Given the description of an element on the screen output the (x, y) to click on. 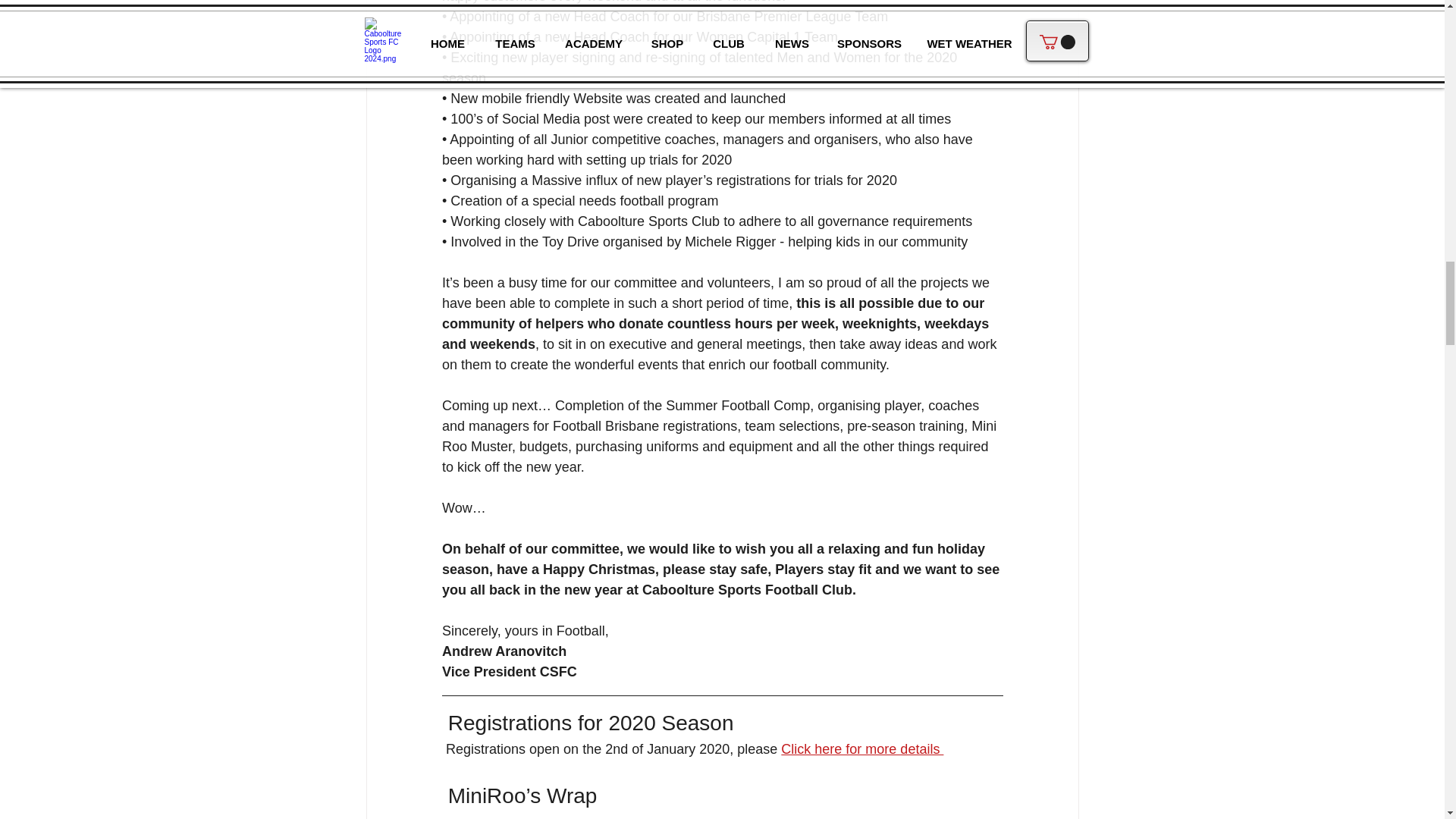
Click here for more details  (861, 749)
